Given the description of an element on the screen output the (x, y) to click on. 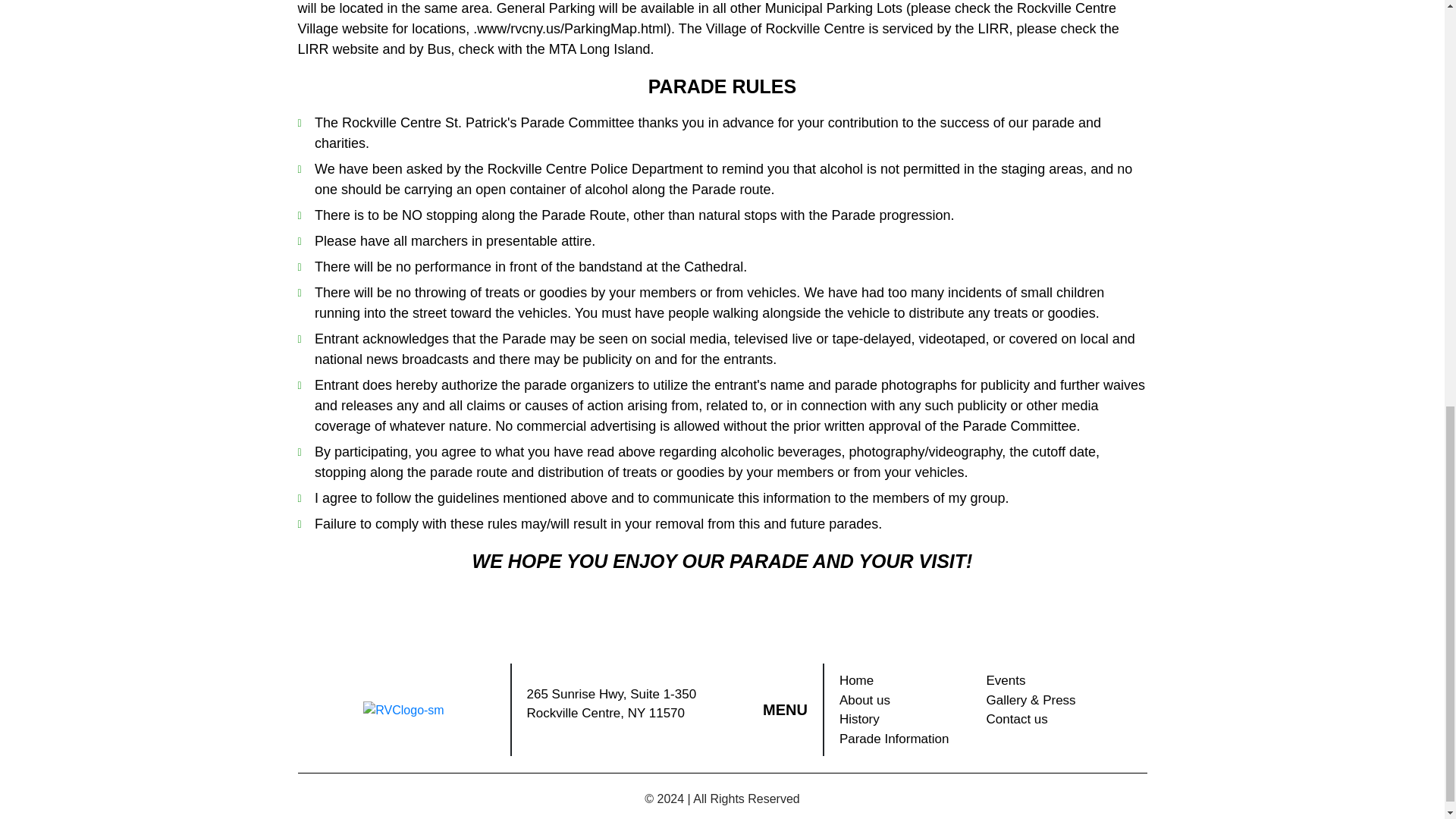
Events (1055, 680)
Parade Information (905, 739)
History (905, 719)
Home (905, 680)
About us (905, 700)
RVClogo-sm (403, 710)
Contact us (1055, 719)
